Given the description of an element on the screen output the (x, y) to click on. 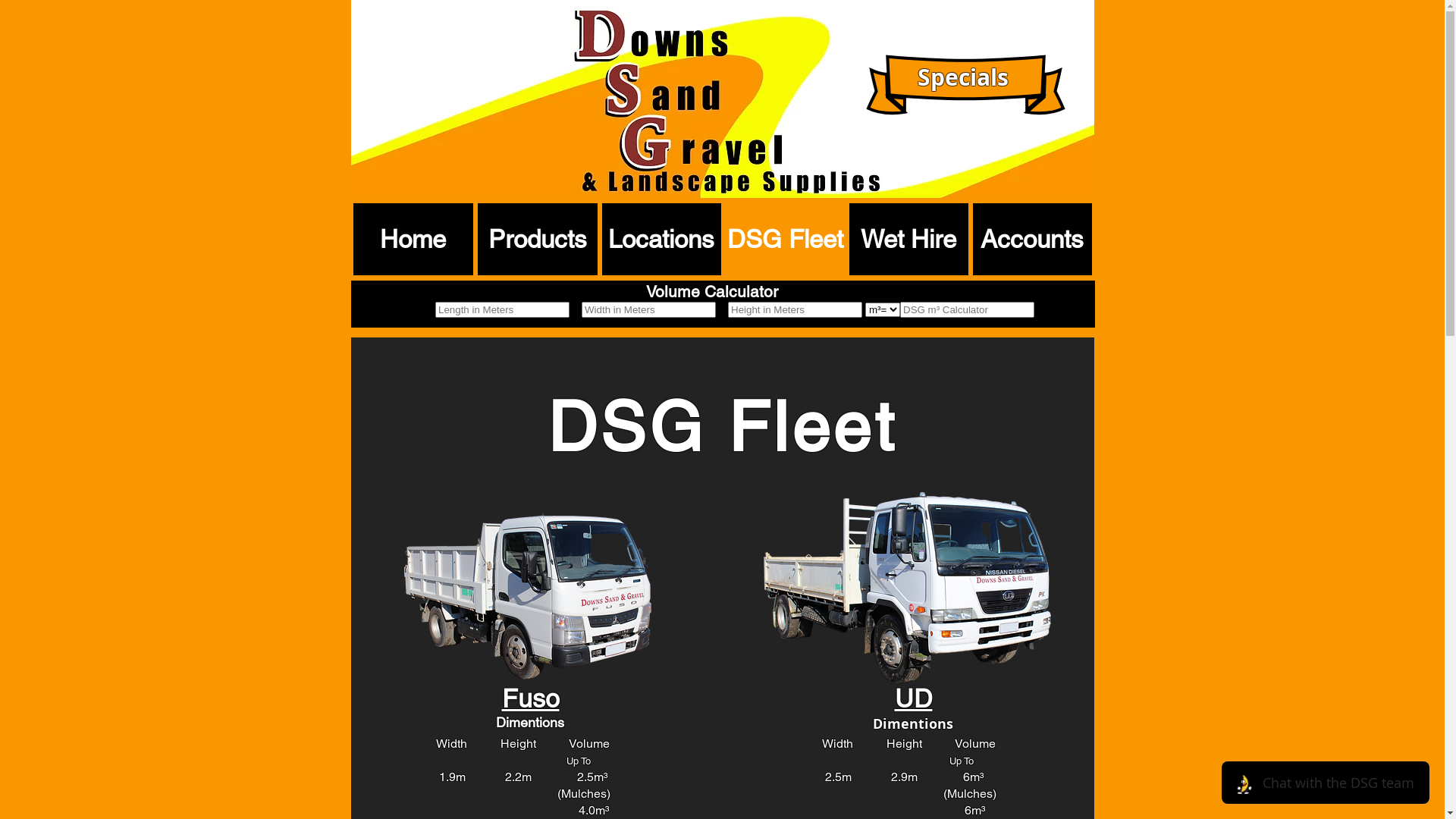
Home Element type: text (413, 239)
Accounts Element type: text (1031, 239)
Wet Hire Element type: text (908, 239)
DSG Fleet Element type: text (784, 239)
Embedded Content Element type: hover (779, 311)
